Given the description of an element on the screen output the (x, y) to click on. 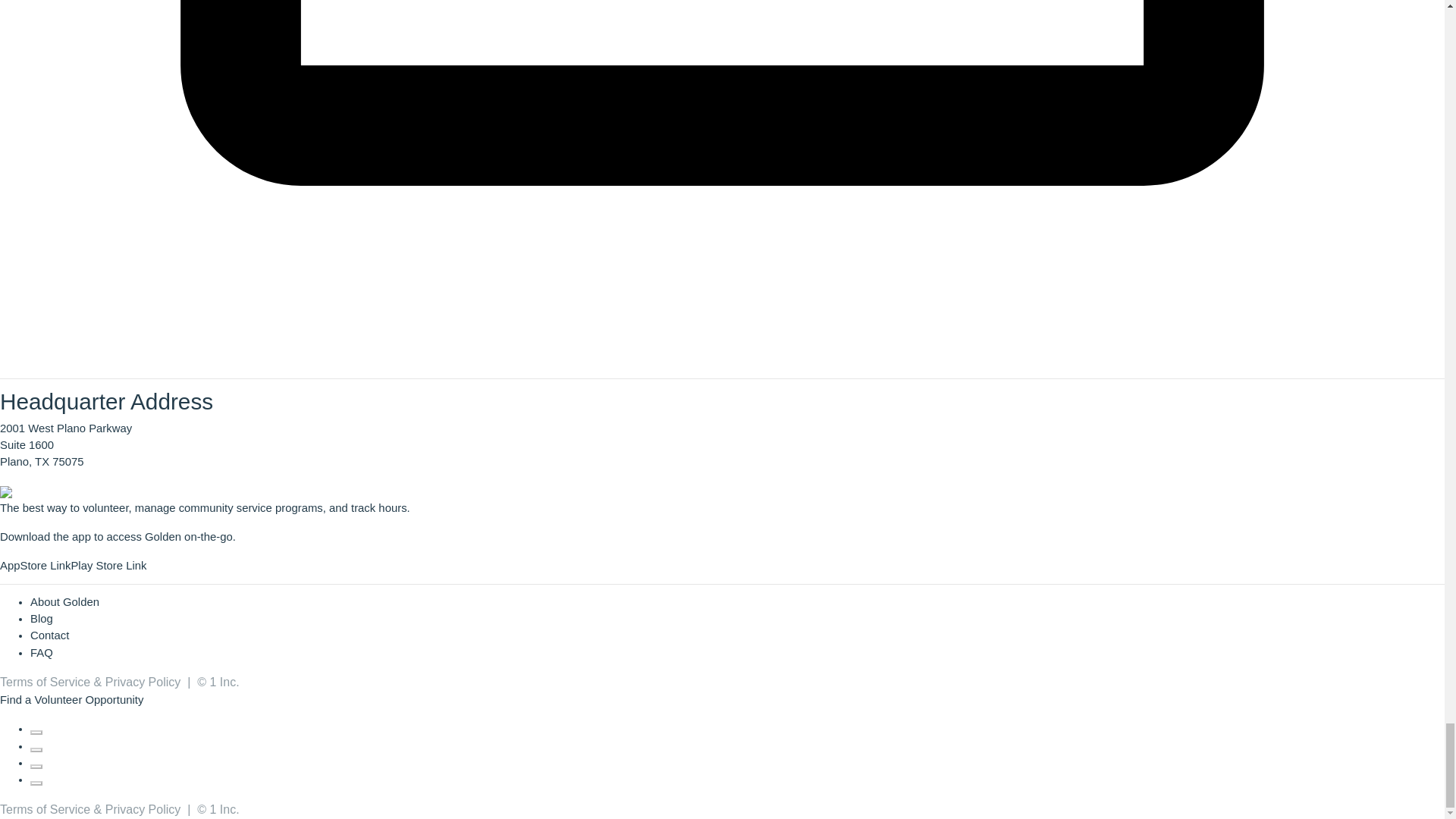
About Golden (64, 602)
Blog (41, 618)
Privacy Policy (142, 809)
About Golden (64, 602)
Play Store Link (108, 565)
Visit Us On Instagram (36, 762)
Volunteer Opportunity (87, 699)
FAQ (41, 653)
AppStore Link (34, 565)
Blog (41, 618)
Contact (49, 635)
Contact (49, 635)
Terms of Service (45, 681)
Terms of Service (45, 809)
Visit Us On Twitter (36, 746)
